Given the description of an element on the screen output the (x, y) to click on. 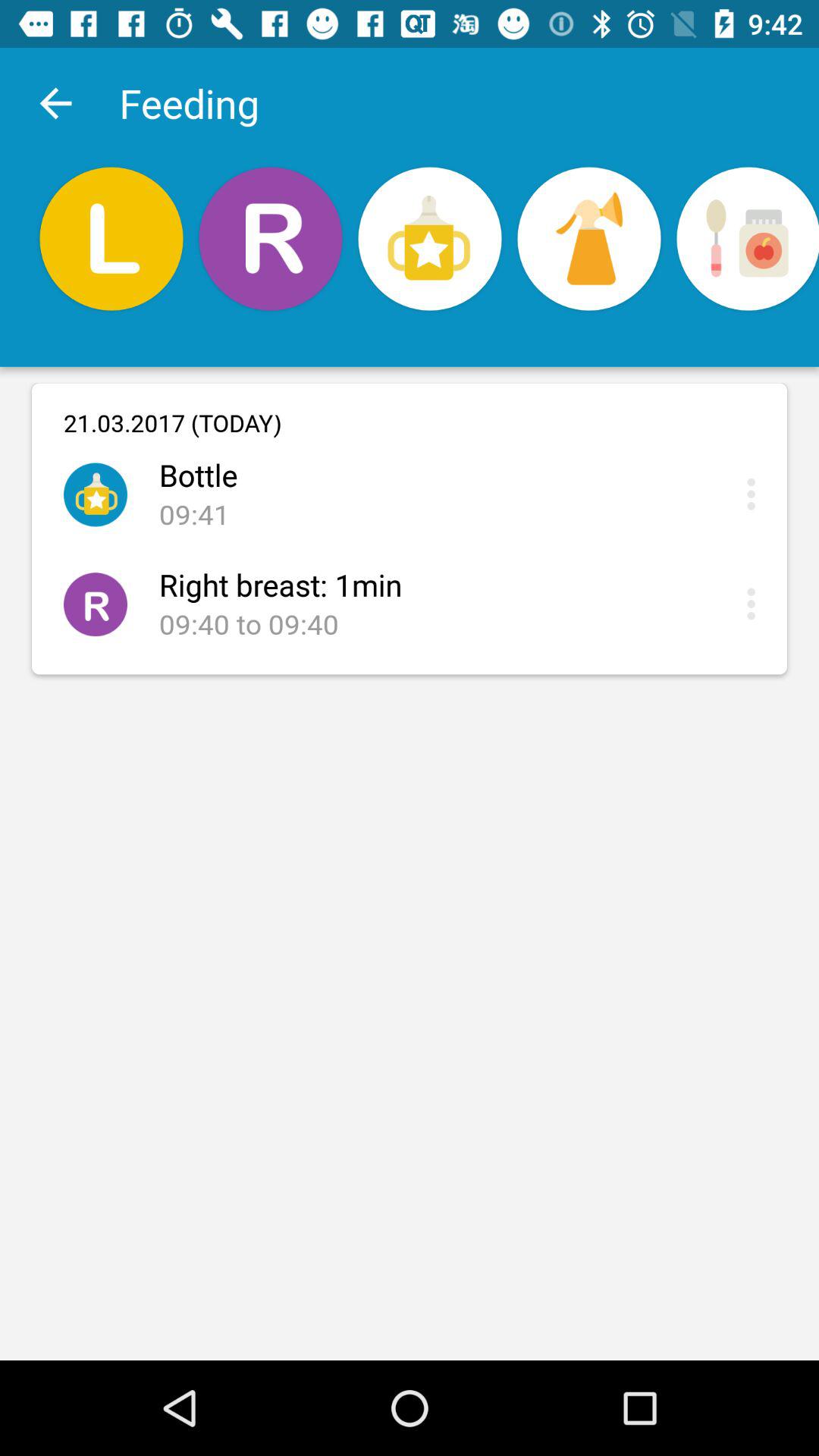
click here for more (755, 603)
